Given the description of an element on the screen output the (x, y) to click on. 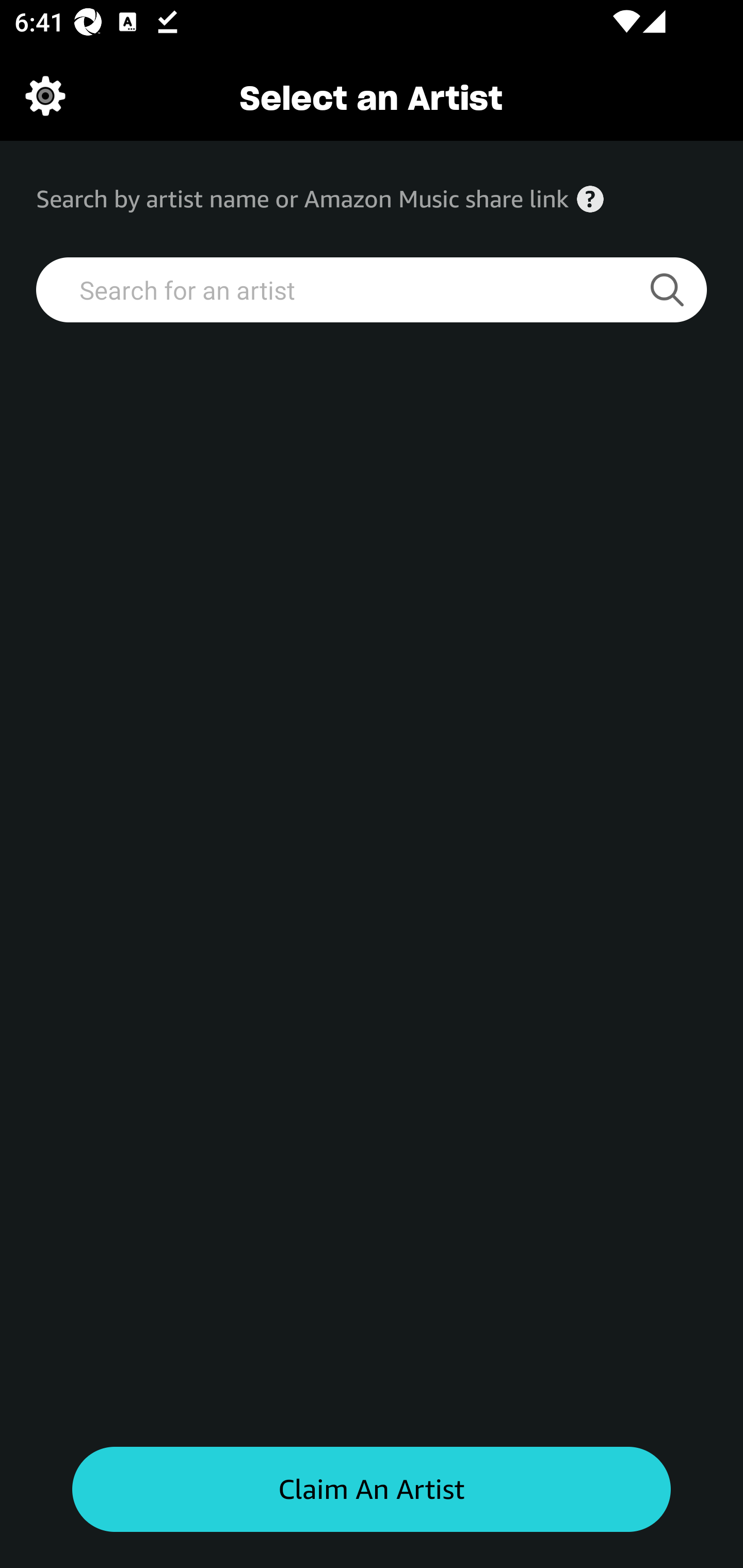
Help  icon (589, 199)
Claim an artist button Claim An Artist (371, 1489)
